Given the description of an element on the screen output the (x, y) to click on. 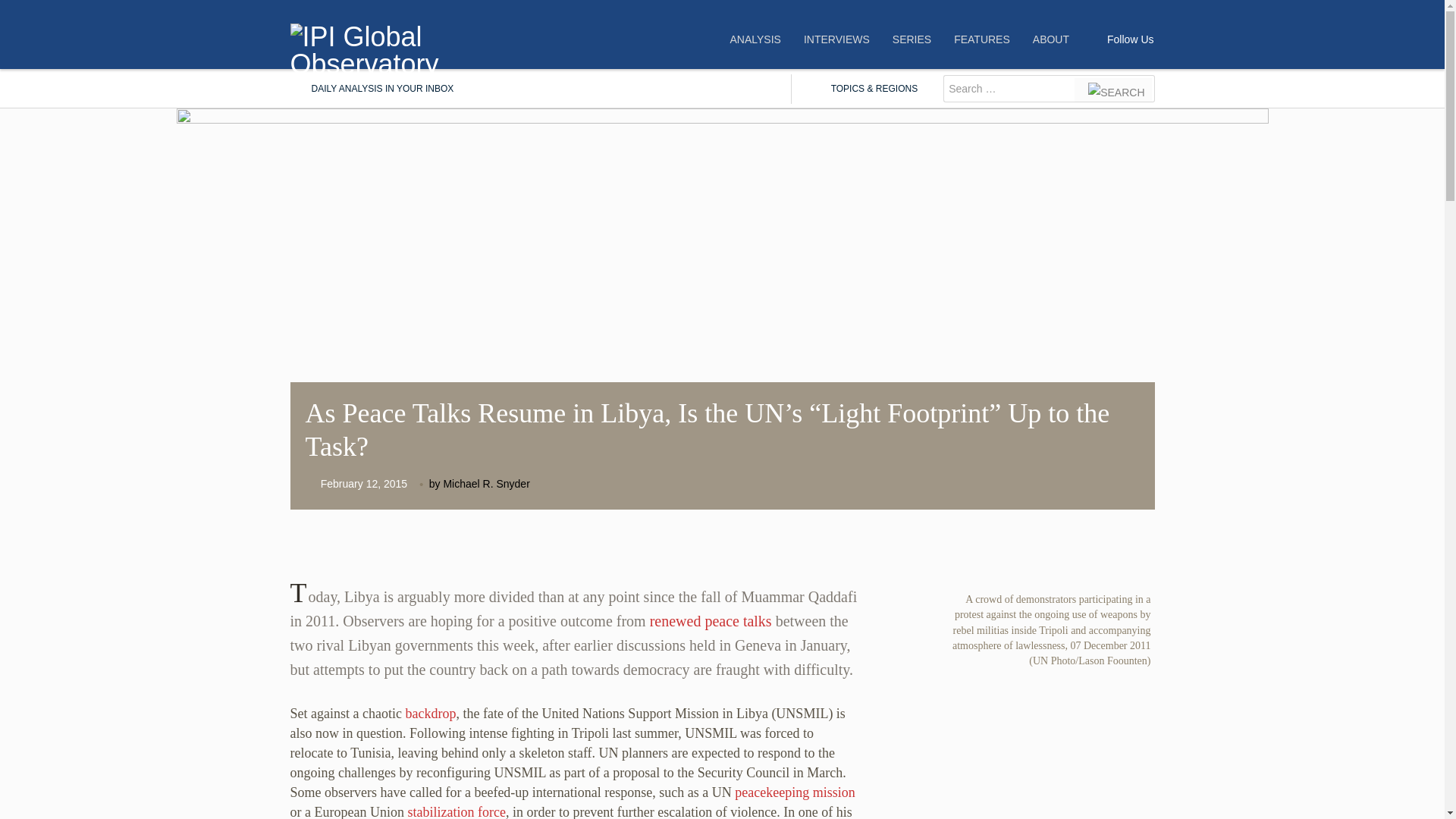
search (1112, 88)
INTERVIEWS (836, 39)
Search for: (1008, 88)
IPI Global Observatory (365, 36)
DAILY ANALYSIS IN YOUR INBOX (372, 89)
SERIES (911, 39)
FEATURES (982, 39)
ABOUT (1051, 39)
ANALYSIS (754, 39)
Follow Us (1130, 39)
